Given the description of an element on the screen output the (x, y) to click on. 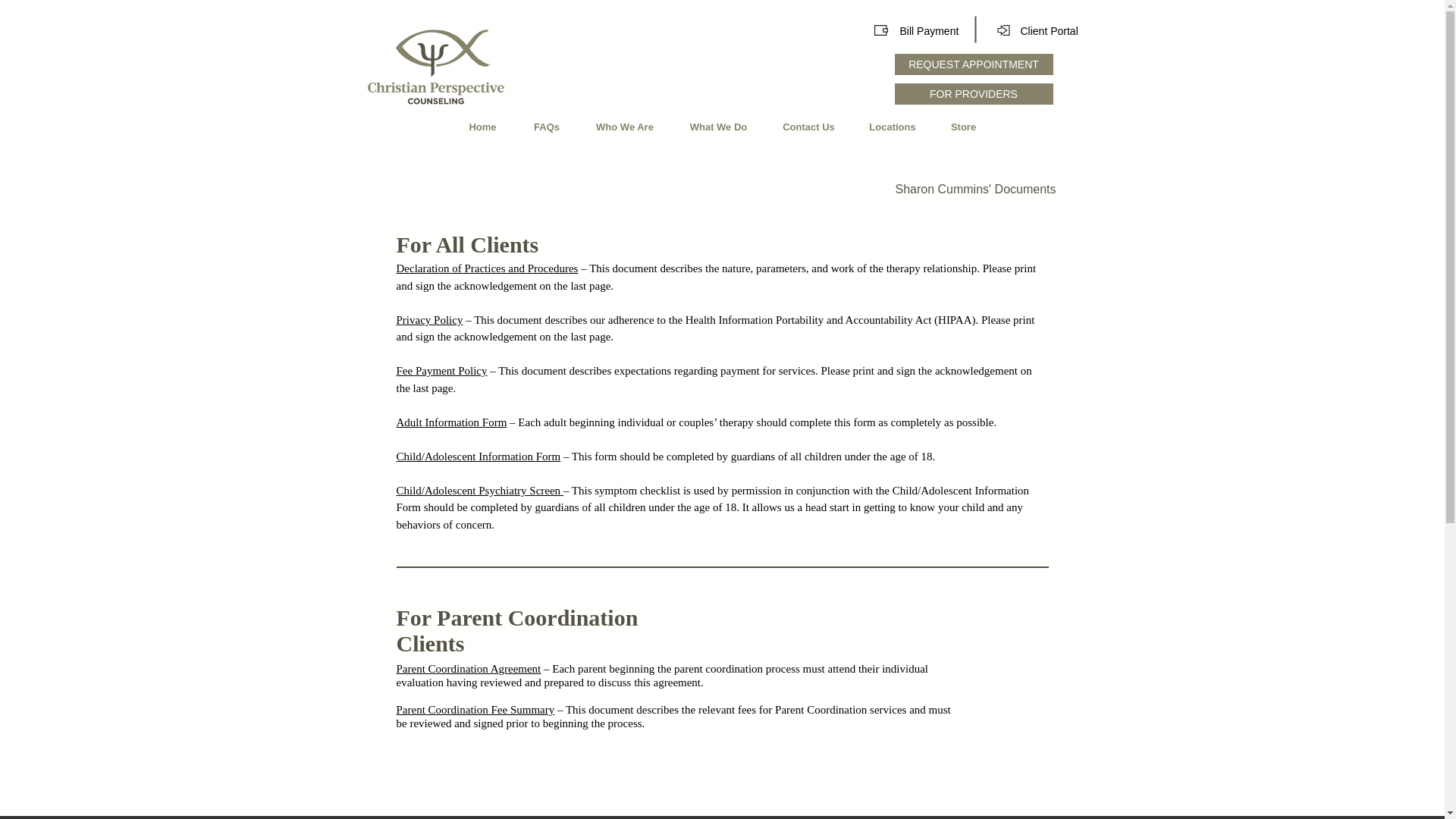
FOR PROVIDERS (973, 93)
FAQs (546, 127)
Bill Payment (928, 30)
Adult Information Form (451, 422)
Parent Coordination Agreement (468, 668)
REQUEST APPOINTMENT (973, 64)
Store (962, 127)
Fee Payment Policy (441, 370)
Contact Us (808, 127)
Privacy Policy (429, 319)
Parent Coordination Fee Summary (475, 709)
Who We Are (624, 127)
Declaration of Practices and Procedures (487, 268)
Client Portal (1049, 30)
What We Do (718, 127)
